Given the description of an element on the screen output the (x, y) to click on. 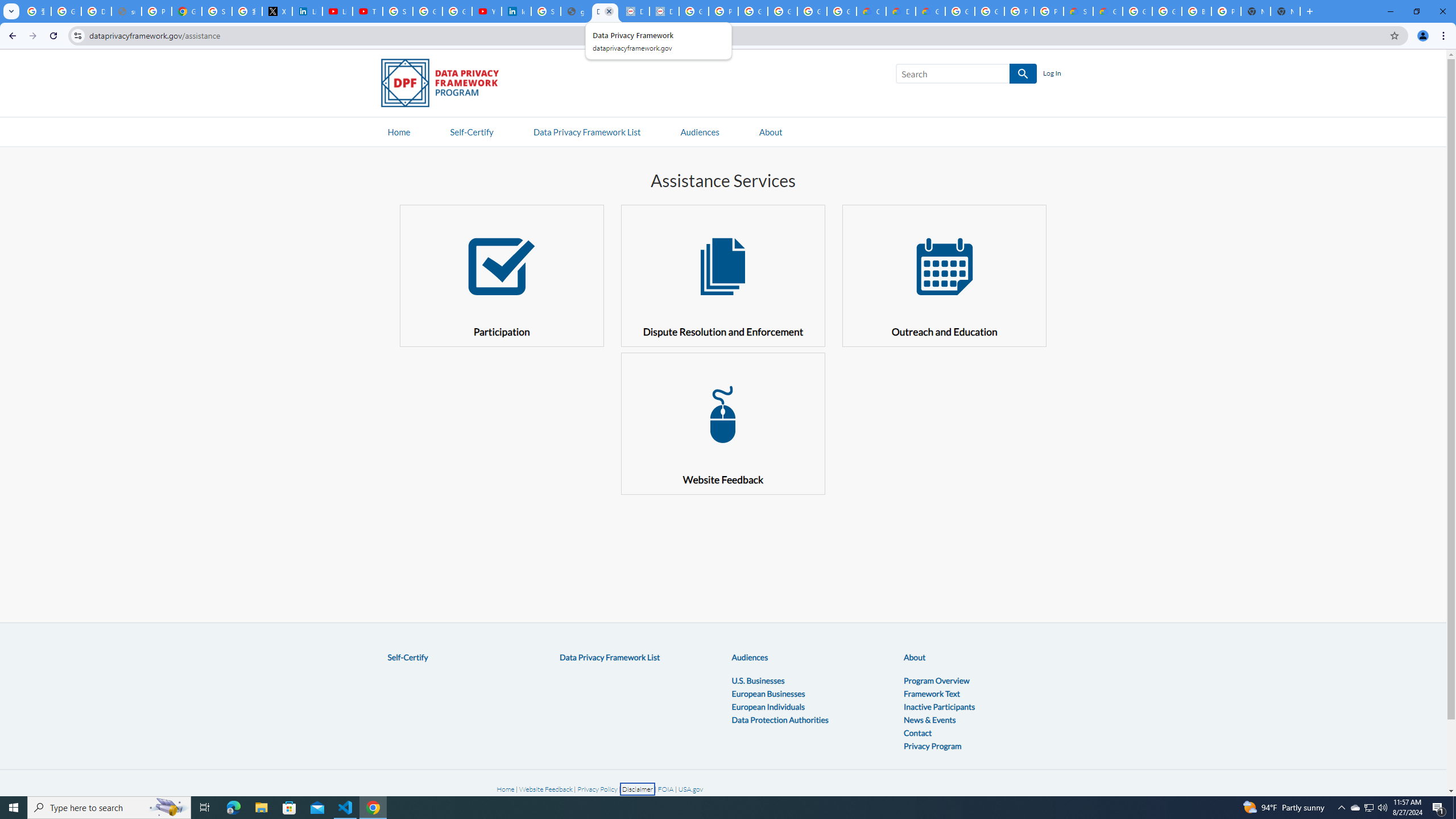
AutomationID: navitem2 (769, 131)
SEARCH (1022, 73)
 Dispute Resolution and Enforcement (722, 275)
support.google.com - Network error (126, 11)
Log In (1051, 73)
LinkedIn - YouTube (337, 11)
Framework Text (931, 692)
Home (505, 788)
 Website Feedback (722, 423)
